Given the description of an element on the screen output the (x, y) to click on. 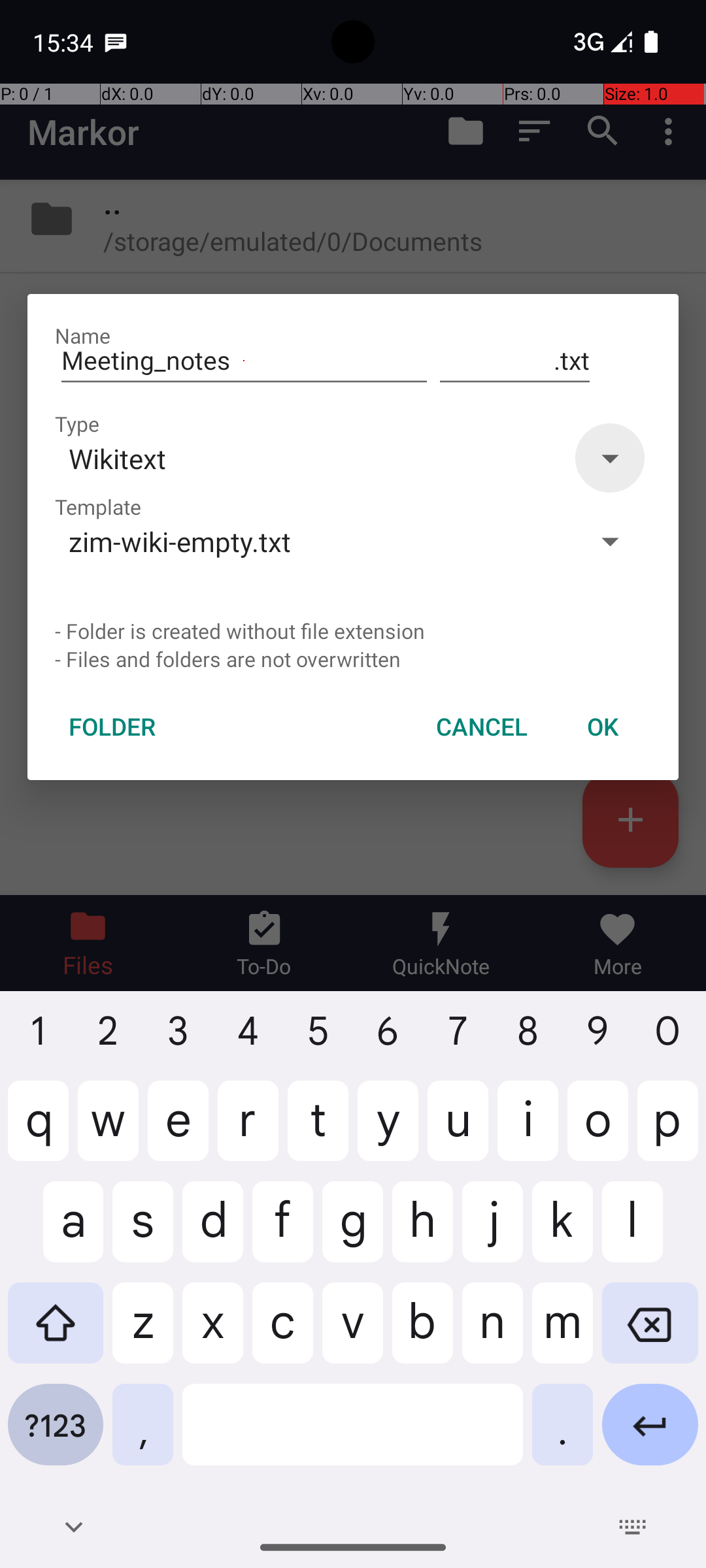
Meeting_notes Element type: android.widget.EditText (243, 360)
.txt Element type: android.widget.EditText (514, 360)
Type Element type: android.widget.TextView (76, 423)
Template Element type: android.widget.TextView (97, 506)
- Folder is created without file extension Element type: android.widget.TextView (352, 630)
- Files and folders are not overwritten Element type: android.widget.TextView (352, 658)
FOLDER Element type: android.widget.Button (111, 726)
Wikitext Element type: android.widget.TextView (311, 457)
zim-wiki-empty.txt Element type: android.widget.TextView (311, 540)
